Given the description of an element on the screen output the (x, y) to click on. 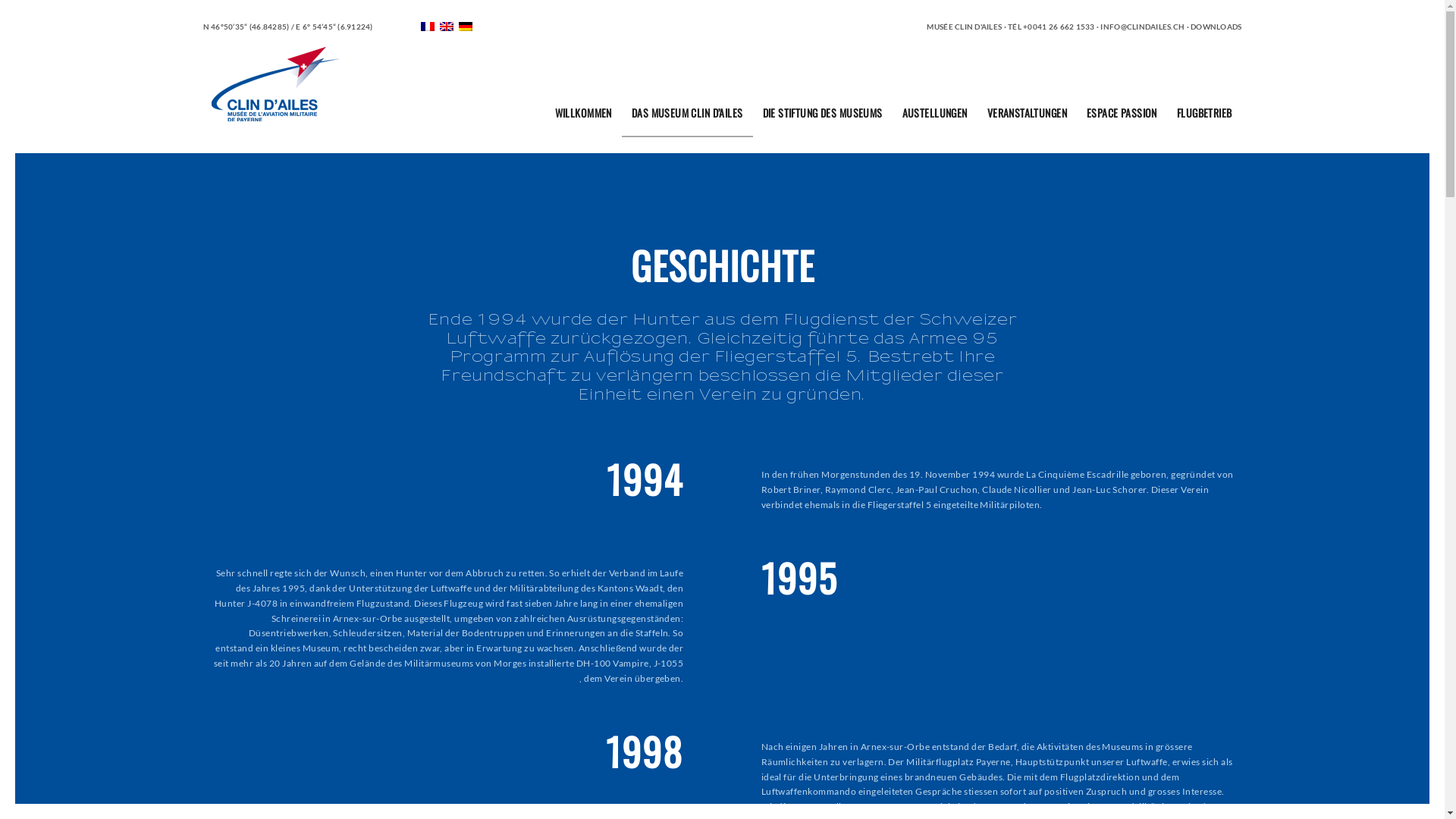
ENGLISH Element type: hover (446, 26)
FLUGBETRIEB Element type: text (1204, 113)
ESPACE PASSION Element type: text (1121, 113)
DIE STIFTUNG DES MUSEUMS Element type: text (822, 113)
VERANSTALTUNGEN Element type: text (1026, 113)
INFO@CLINDAILES.CH Element type: text (1142, 26)
AUSTELLUNGEN Element type: text (934, 113)
DEUTSCH Element type: hover (465, 26)
FRANCAIS Element type: hover (427, 26)
WILLKOMMEN Element type: text (583, 113)
DOWNLOADS Element type: text (1215, 26)
